Given the description of an element on the screen output the (x, y) to click on. 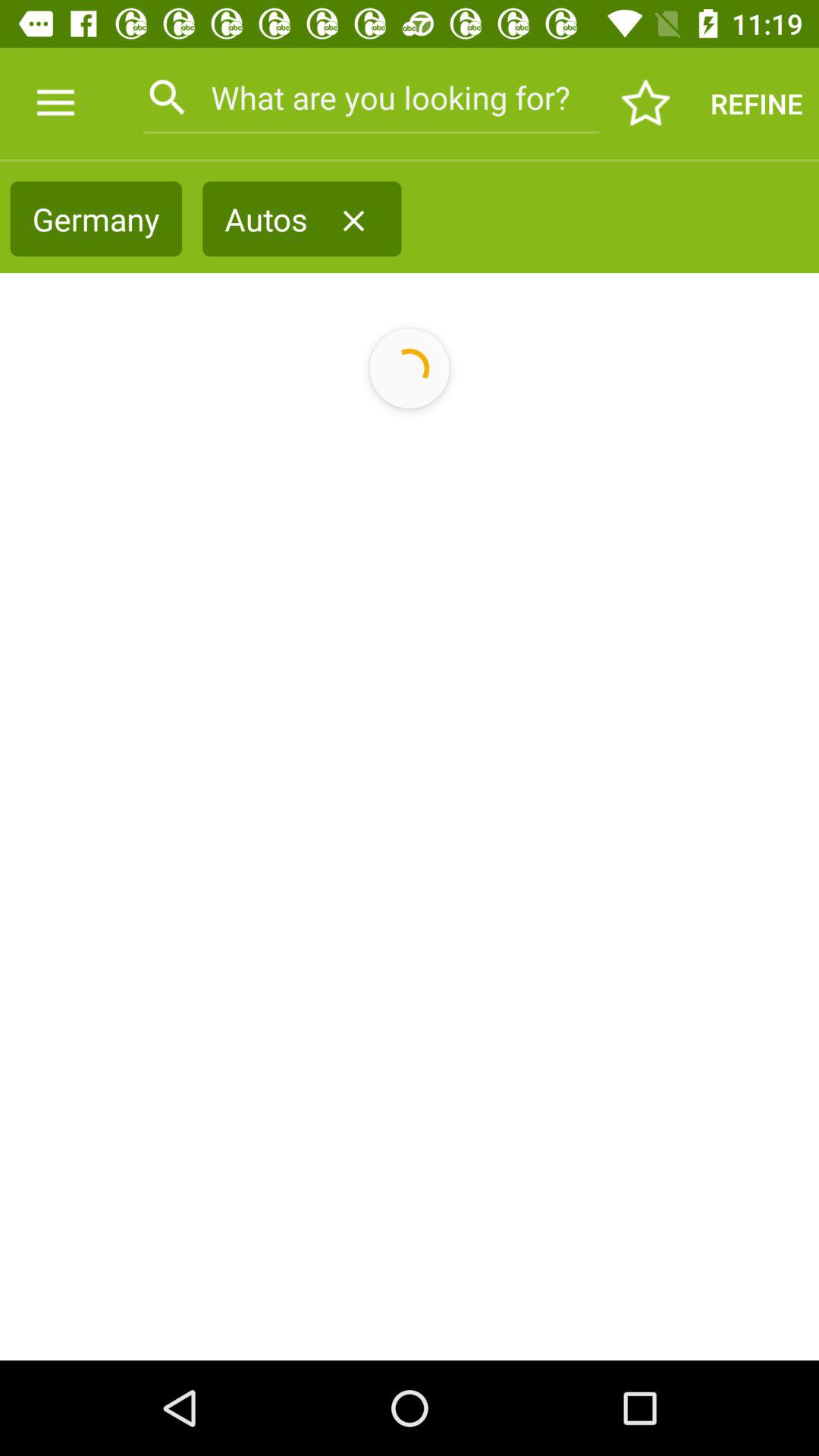
press refine icon (756, 103)
